Given the description of an element on the screen output the (x, y) to click on. 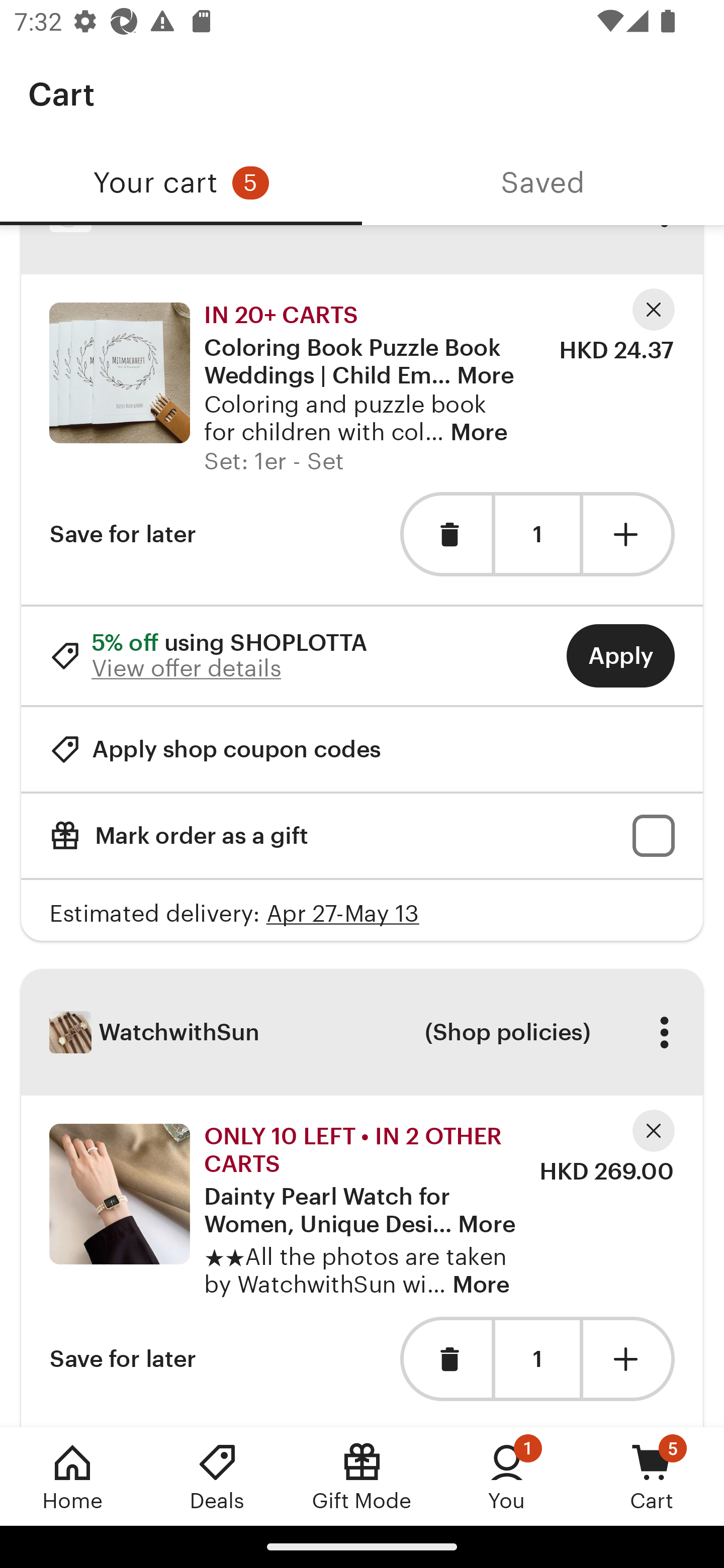
Saved, tab 2 of 2 Saved (543, 183)
Save for later (122, 534)
Remove item from cart (445, 534)
Add one unit to cart (628, 534)
1 (537, 534)
5% off using SHOPLOTTA View offer details Apply (361, 655)
Apply (620, 655)
Apply shop coupon codes (215, 749)
Mark order as a gift (361, 835)
WatchwithSun (Shop policies) More options (361, 1032)
(Shop policies) (507, 1031)
More options (663, 1031)
Save for later (122, 1359)
Remove item from cart (445, 1359)
Add one unit to cart (628, 1359)
1 (537, 1359)
Home (72, 1475)
Deals (216, 1475)
Gift Mode (361, 1475)
You, 1 new notification You (506, 1475)
